Given the description of an element on the screen output the (x, y) to click on. 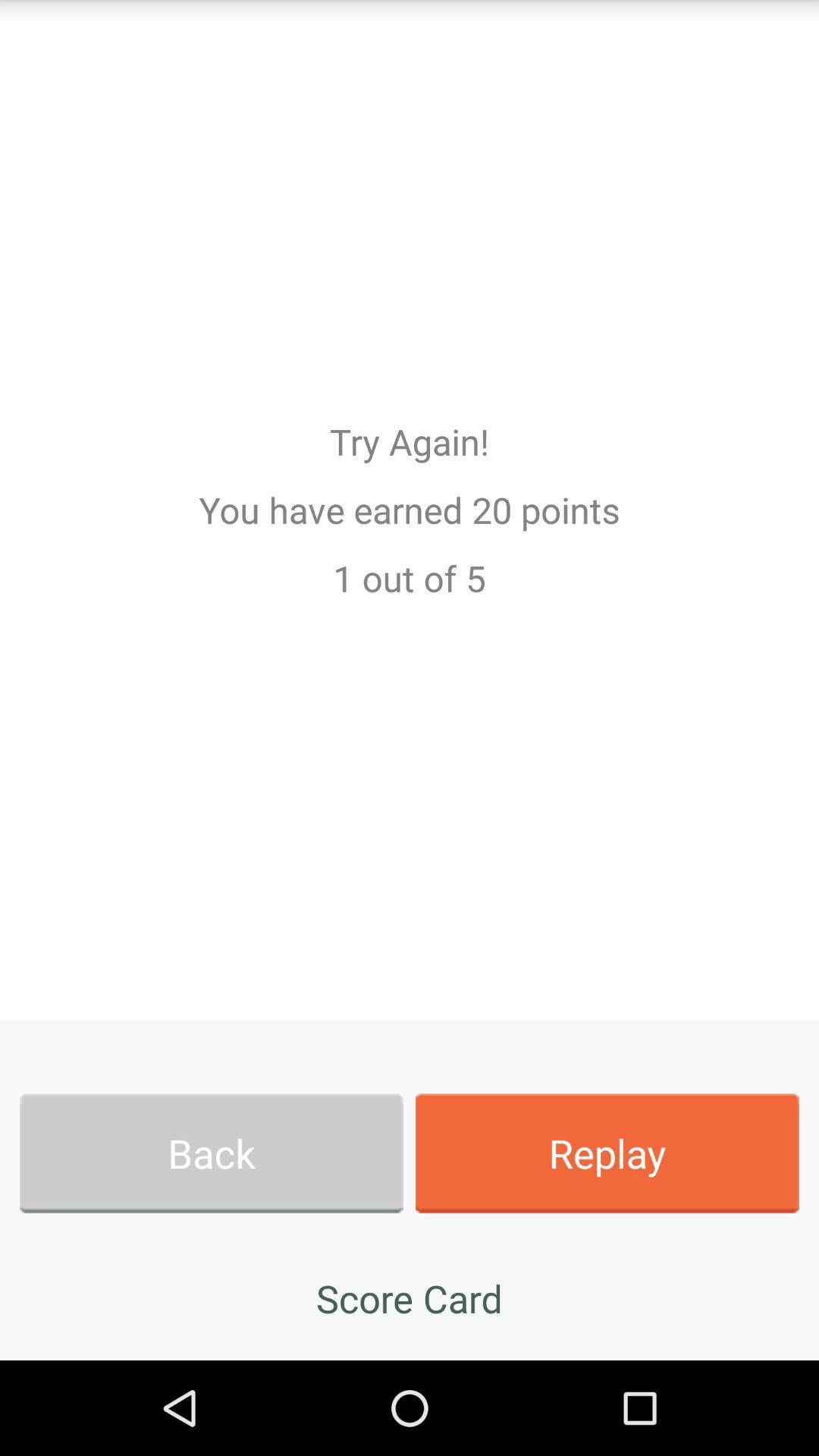
turn on the replay app (607, 1153)
